Given the description of an element on the screen output the (x, y) to click on. 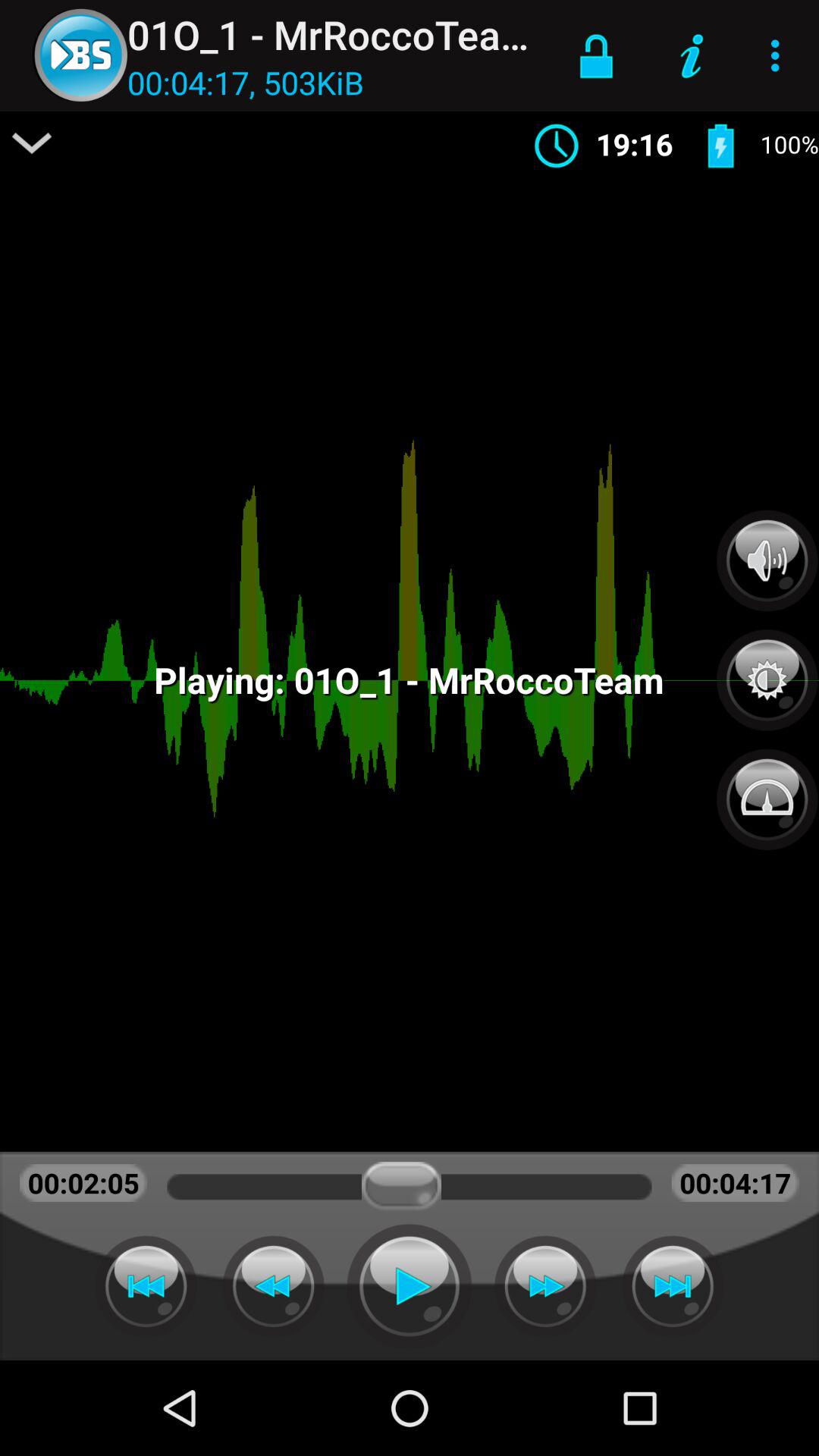
foward fast (545, 1286)
